Given the description of an element on the screen output the (x, y) to click on. 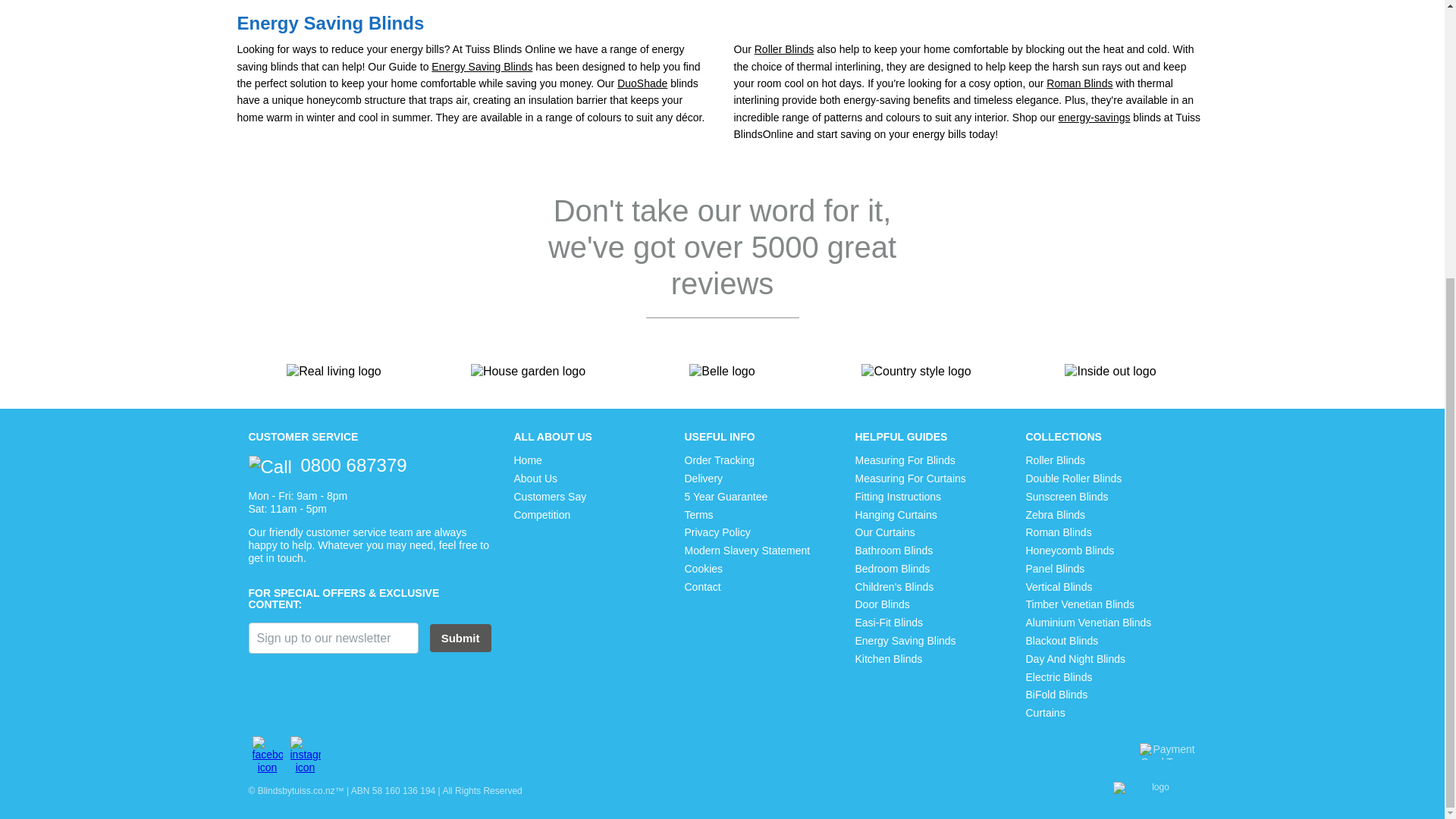
Submit (460, 637)
